Given the description of an element on the screen output the (x, y) to click on. 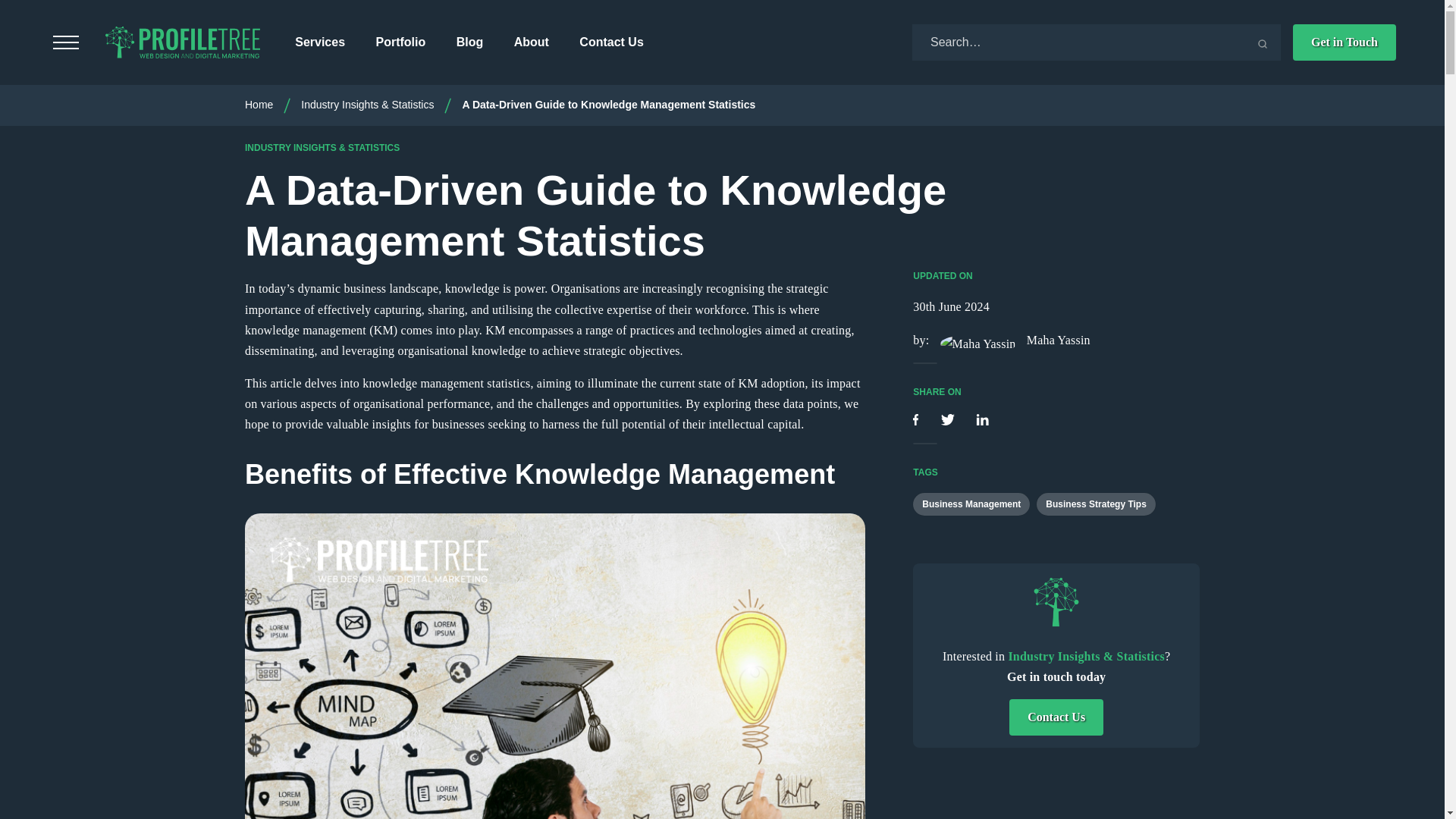
About (530, 42)
Home (258, 104)
Contact Us (611, 42)
Get in Touch (1344, 42)
Blog (470, 42)
Share on LinkedIn (981, 420)
Share on Twitter (949, 420)
Services (320, 42)
Maha Yassin (1011, 339)
Portfolio (400, 42)
